Given the description of an element on the screen output the (x, y) to click on. 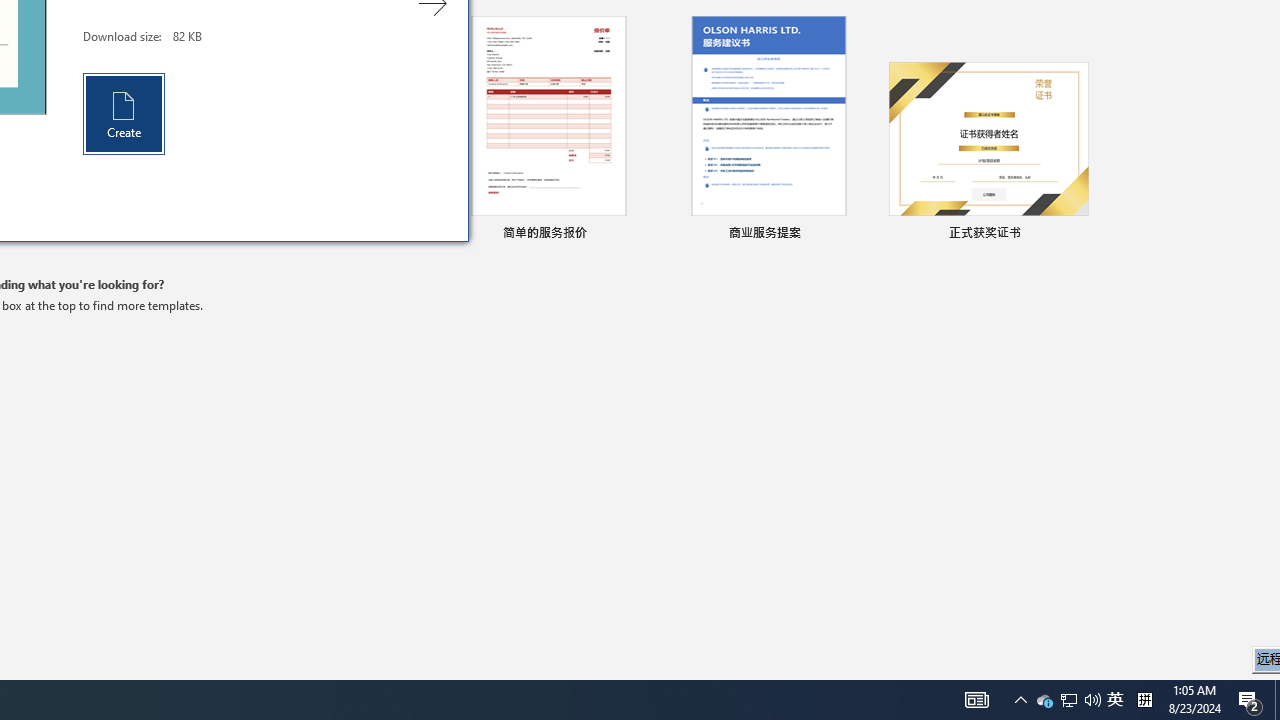
AutomationID: 4105 (1115, 699)
Create (976, 699)
Notification Chevron (124, 113)
Pin to list (1020, 699)
Tray Input Indicator - Chinese (Simplified, China) (1075, 234)
Show desktop (1144, 699)
Q2790: 100% (1277, 699)
User Promoted Notification Area (1069, 699)
Action Center, 2 new notifications (1092, 699)
